Given the description of an element on the screen output the (x, y) to click on. 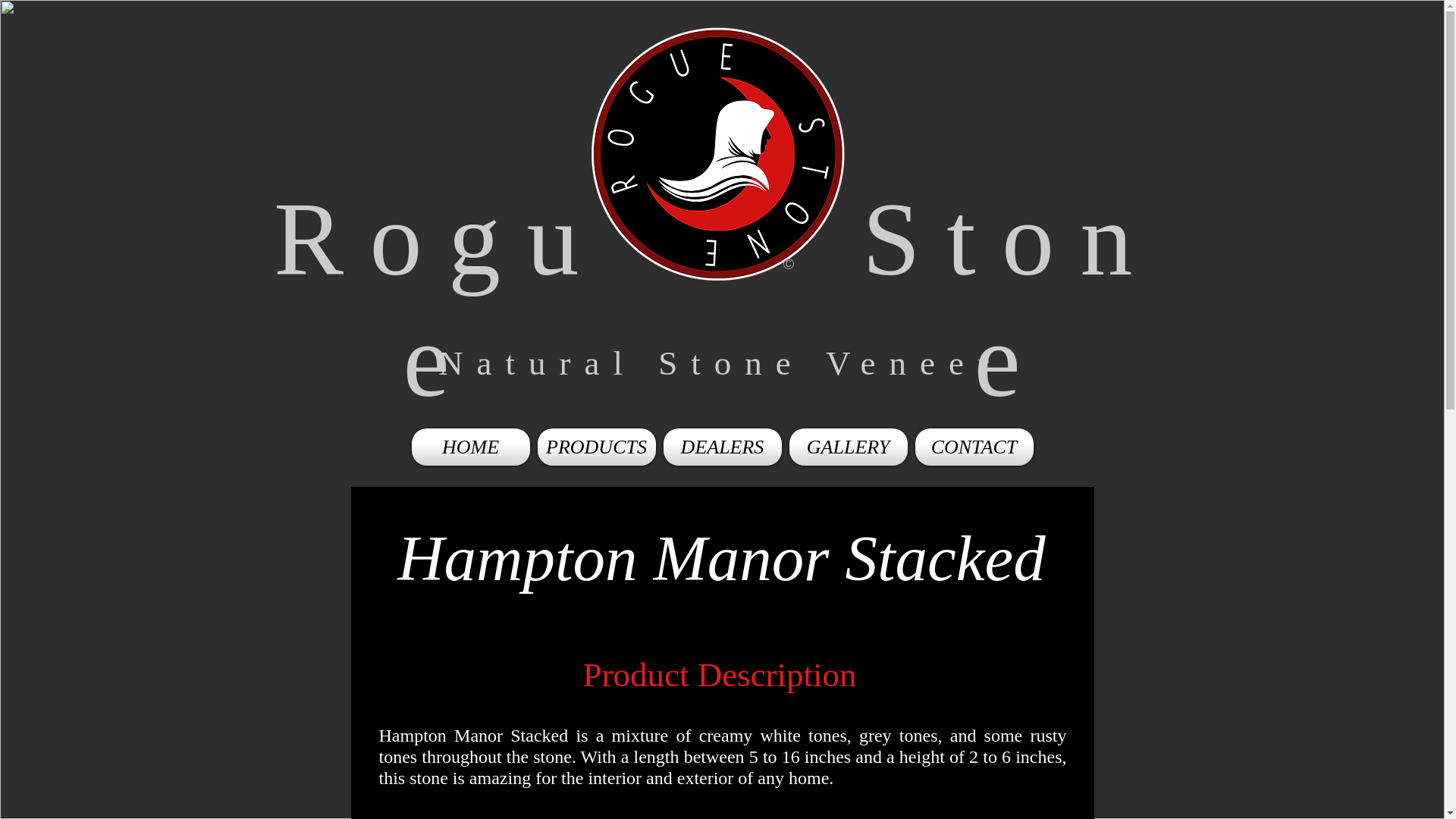
Stone (1009, 299)
HOME (470, 447)
GALLERY (848, 447)
PRODUCTS (596, 447)
Rogue (439, 299)
CONTACT (973, 447)
DEALERS (722, 447)
